Given the description of an element on the screen output the (x, y) to click on. 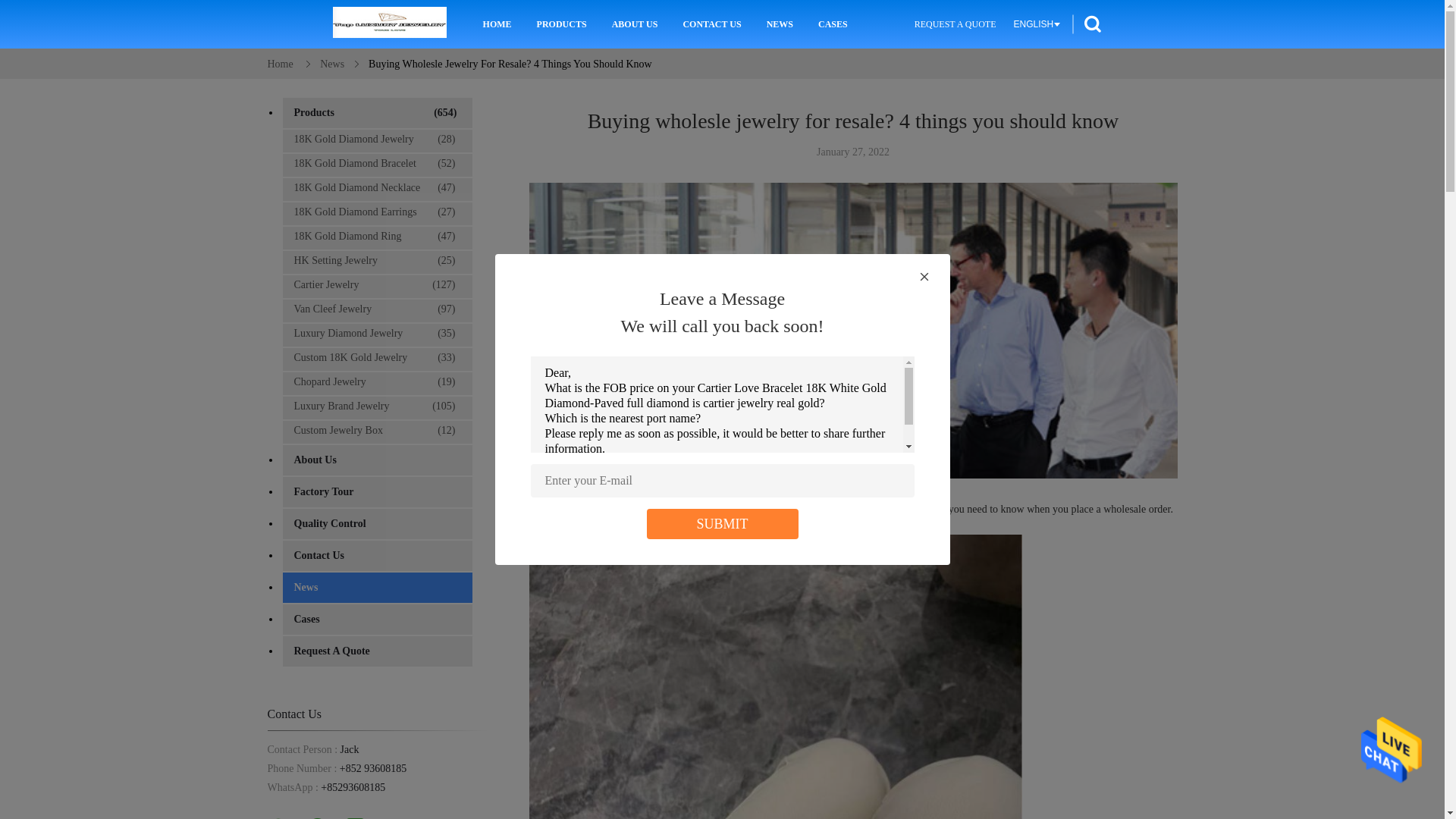
About Us Element type: text (376, 460)
Request A Quote Element type: text (376, 651)
18K Gold Diamond Jewelry
(28) Element type: text (376, 139)
Home Element type: text (279, 63)
Chopard Jewelry
(19) Element type: text (376, 382)
News Element type: text (376, 587)
Products
(654) Element type: text (376, 112)
Cartier Jewelry
(127) Element type: text (376, 285)
News Element type: text (332, 63)
Custom 18K Gold Jewelry
(33) Element type: text (376, 357)
18K Gold Diamond Earrings
(27) Element type: text (376, 212)
Custom Jewelry Box
(12) Element type: text (376, 430)
HK Setting Jewelry
(25) Element type: text (376, 260)
Factory Tour Element type: text (376, 491)
18K Gold Diamond Ring
(47) Element type: text (376, 236)
REQUEST A QUOTE Element type: text (955, 24)
18K Gold Diamond Bracelet
(52) Element type: text (376, 163)
ABOUT US Element type: text (635, 24)
Van Cleef Jewelry
(97) Element type: text (376, 309)
CASES Element type: text (832, 24)
Contact Us Element type: text (376, 555)
18K Gold Diamond Necklace
(47) Element type: text (376, 187)
PRODUCTS Element type: text (561, 24)
Luxury Brand Jewelry
(105) Element type: text (376, 406)
NEWS Element type: text (779, 24)
HOME Element type: text (497, 24)
China 18K Gold Diamond Jewelry manufacturer Element type: hover (389, 23)
Cases Element type: text (376, 619)
Quality Control Element type: text (376, 523)
Luxury Diamond Jewelry
(35) Element type: text (376, 333)
CONTACT US Element type: text (711, 24)
